Given the description of an element on the screen output the (x, y) to click on. 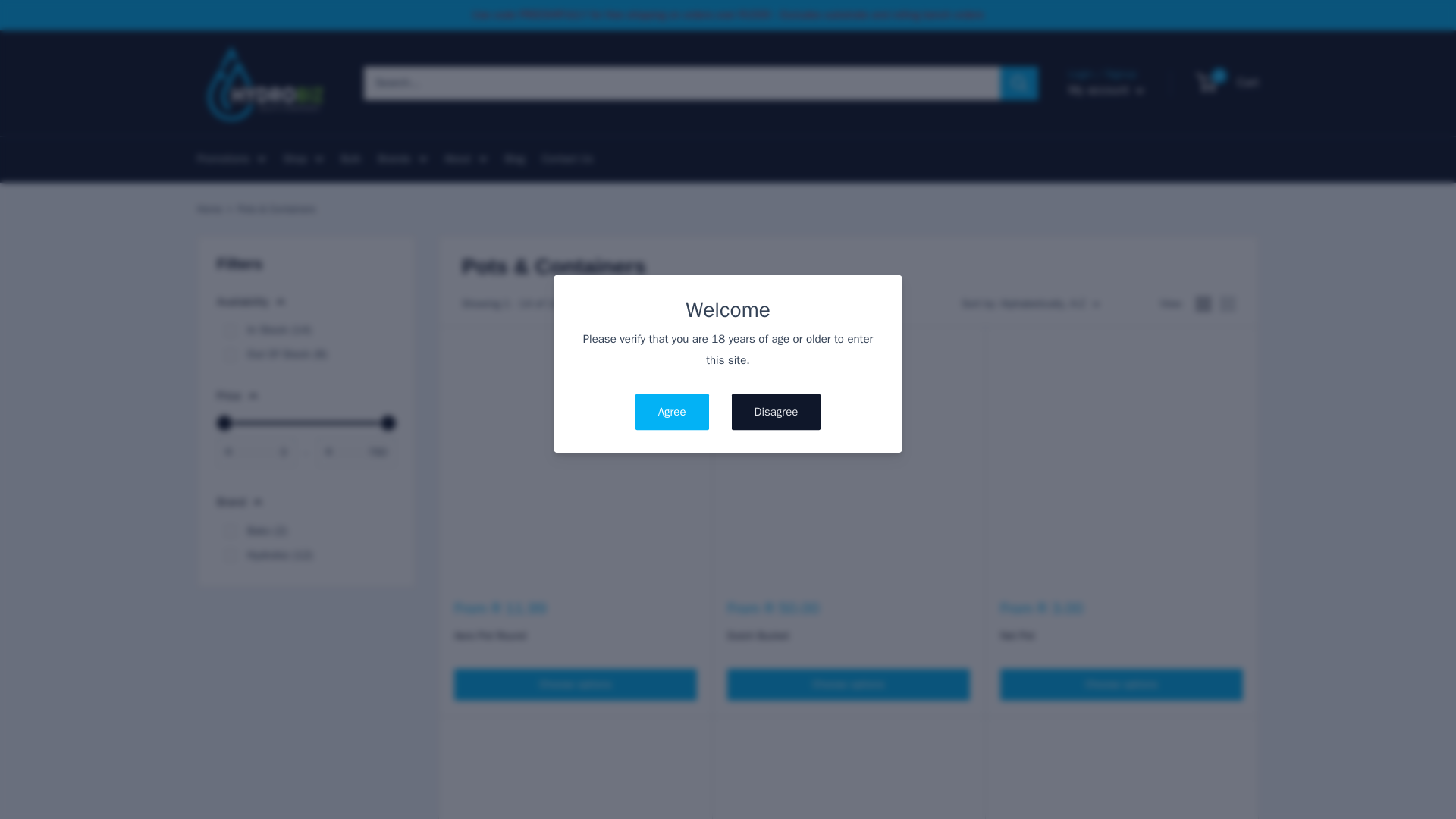
Agree (671, 411)
Hydrobiz (229, 554)
1 (229, 330)
0 (229, 354)
0 (306, 423)
760 (306, 423)
Bato (229, 530)
Disagree (776, 411)
